Given the description of an element on the screen output the (x, y) to click on. 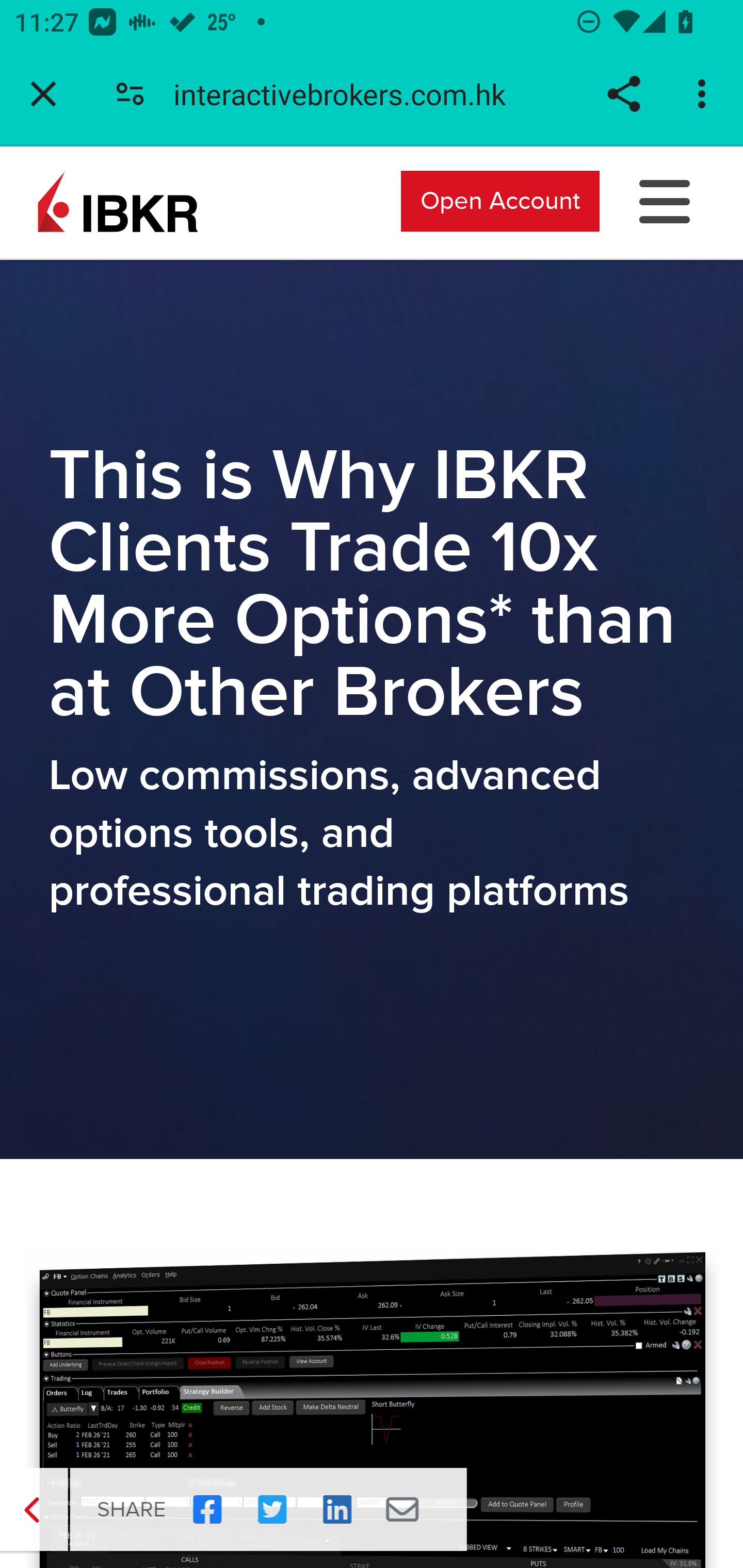
Close tab (43, 93)
Share (623, 93)
Customize and control Google Chrome (705, 93)
Connection is secure (129, 93)
interactivebrokers.com.hk (346, 93)
Interactive Brokers Home (117, 200)
Open Account (500, 200)
Toggle Navigation (665, 200)
Share on Facebook  (204, 1509)
Share on Twitter  (269, 1509)
Share on Linkedin  (335, 1509)
Share by Email  (400, 1509)
